Given the description of an element on the screen output the (x, y) to click on. 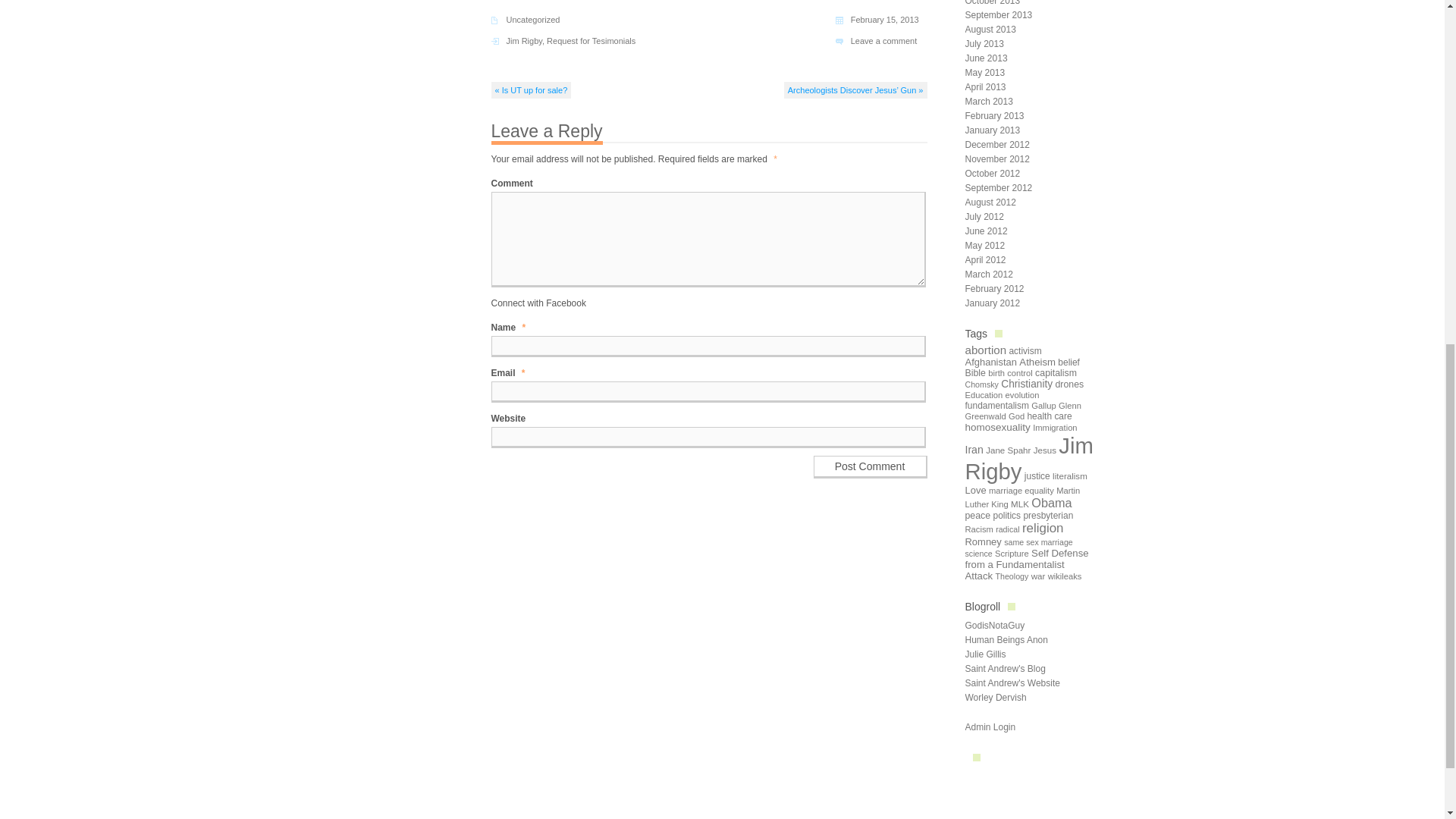
May 2013 (983, 72)
Leave a comment (883, 40)
Progressive truth telling from Wisconsin (994, 697)
September 2013 (997, 14)
Jim Rigby (523, 40)
Request for Tesimonials (590, 40)
Post Comment (869, 466)
Post Comment (869, 466)
Uncategorized (533, 19)
